Given the description of an element on the screen output the (x, y) to click on. 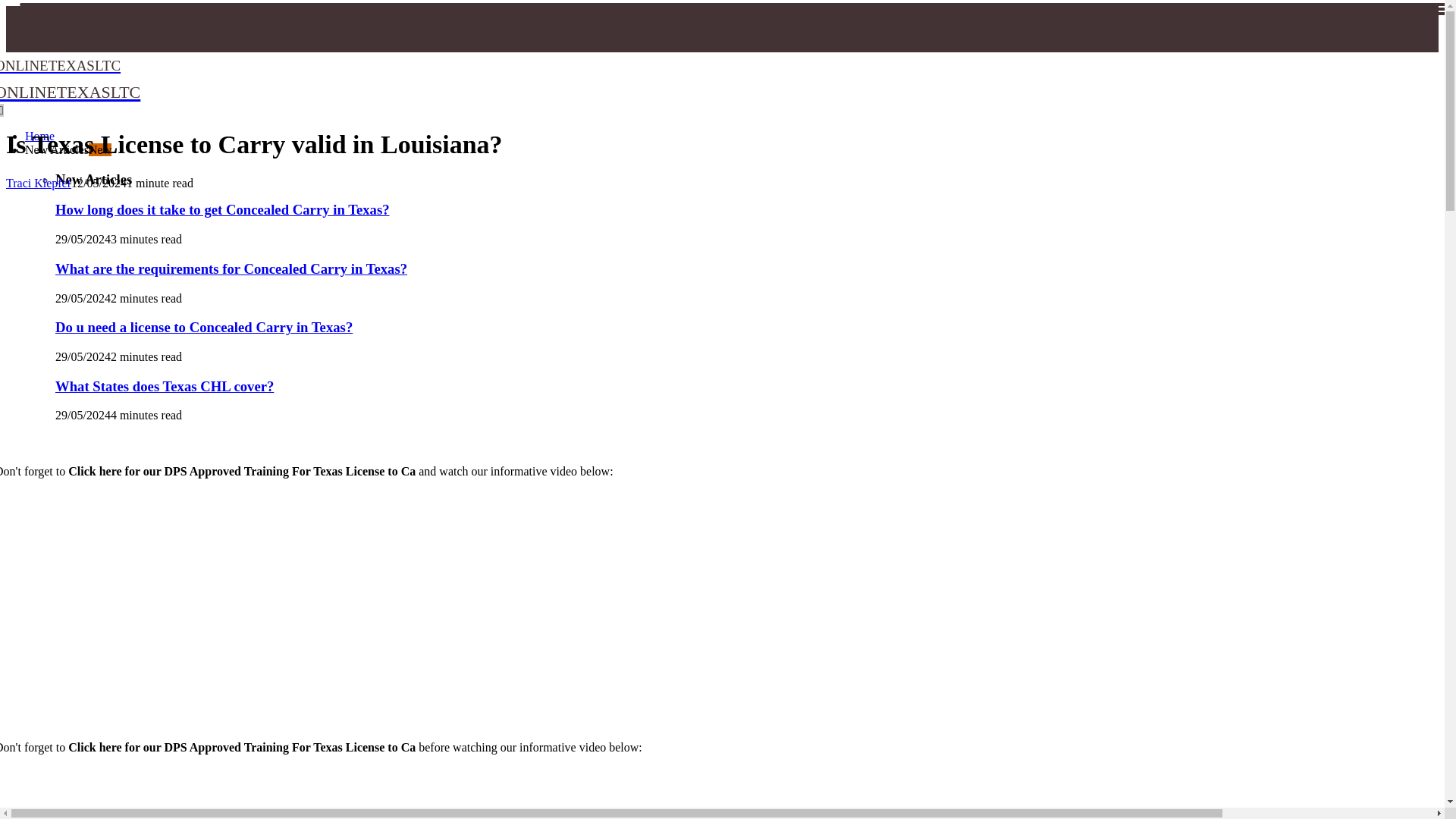
Posts by Traci Klepfer (38, 182)
Do u need a license to Concealed Carry in Texas? (203, 326)
What are the requirements for Concealed Carry in Texas? (231, 268)
Home (39, 135)
What States does Texas CHL cover? (164, 385)
Traci Klepfer (203, 78)
How long does it take to get Concealed Carry in Texas? (38, 182)
New ArticlesNew (222, 209)
